Given the description of an element on the screen output the (x, y) to click on. 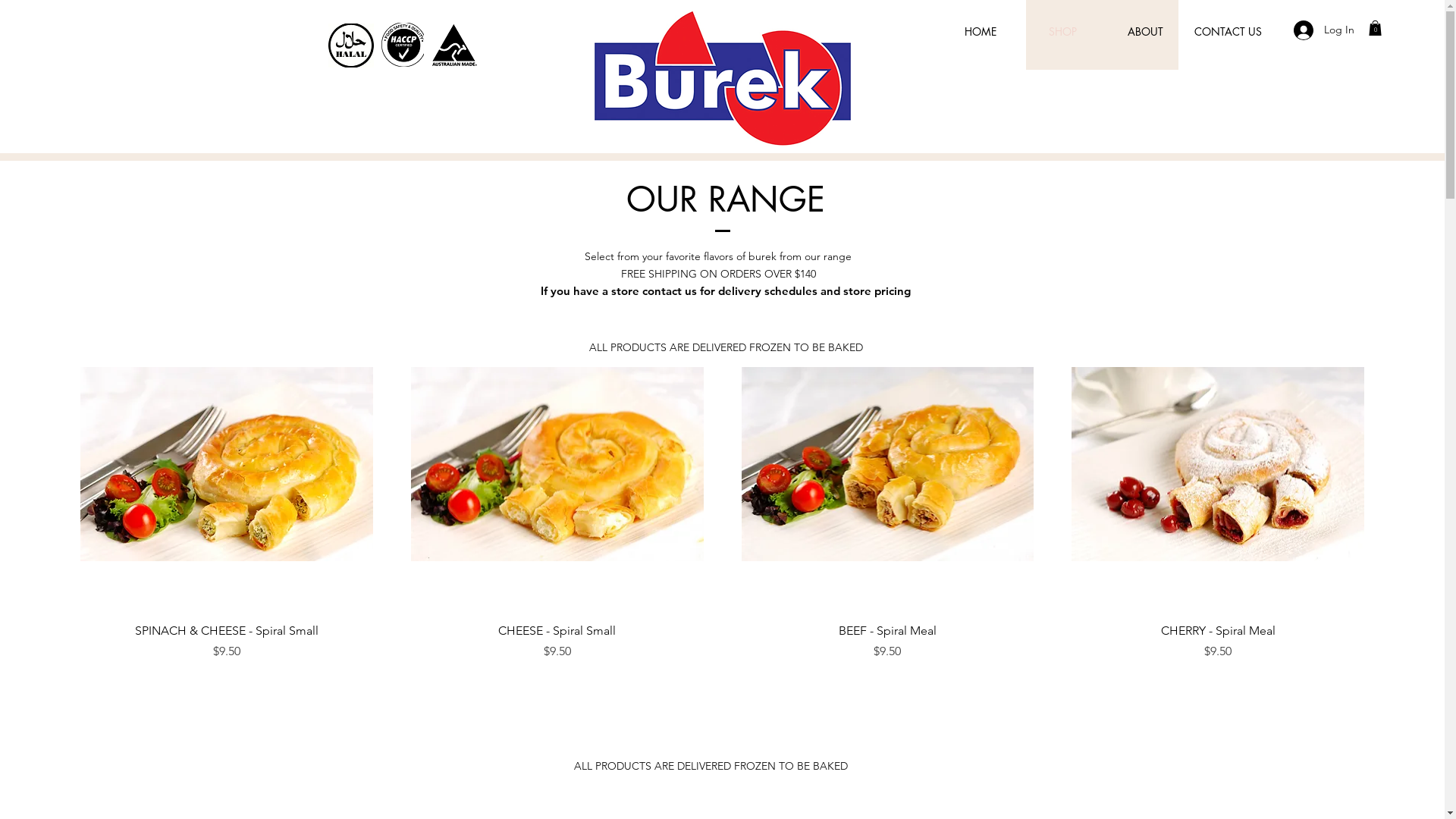
SHOP Element type: text (1062, 31)
HOME Element type: text (979, 31)
CONTACT US Element type: text (1227, 31)
BEEF - Spiral Meal
Price
$9.50 Element type: text (886, 641)
0 Element type: text (1374, 27)
SPINACH & CHEESE - Spiral Small
Price
$9.50 Element type: text (226, 641)
Log In Element type: text (1324, 29)
CHERRY - Spiral Meal
Price
$9.50 Element type: text (1217, 641)
CHEESE - Spiral Small
Price
$9.50 Element type: text (556, 641)
ABOUT Element type: text (1145, 31)
